Given the description of an element on the screen output the (x, y) to click on. 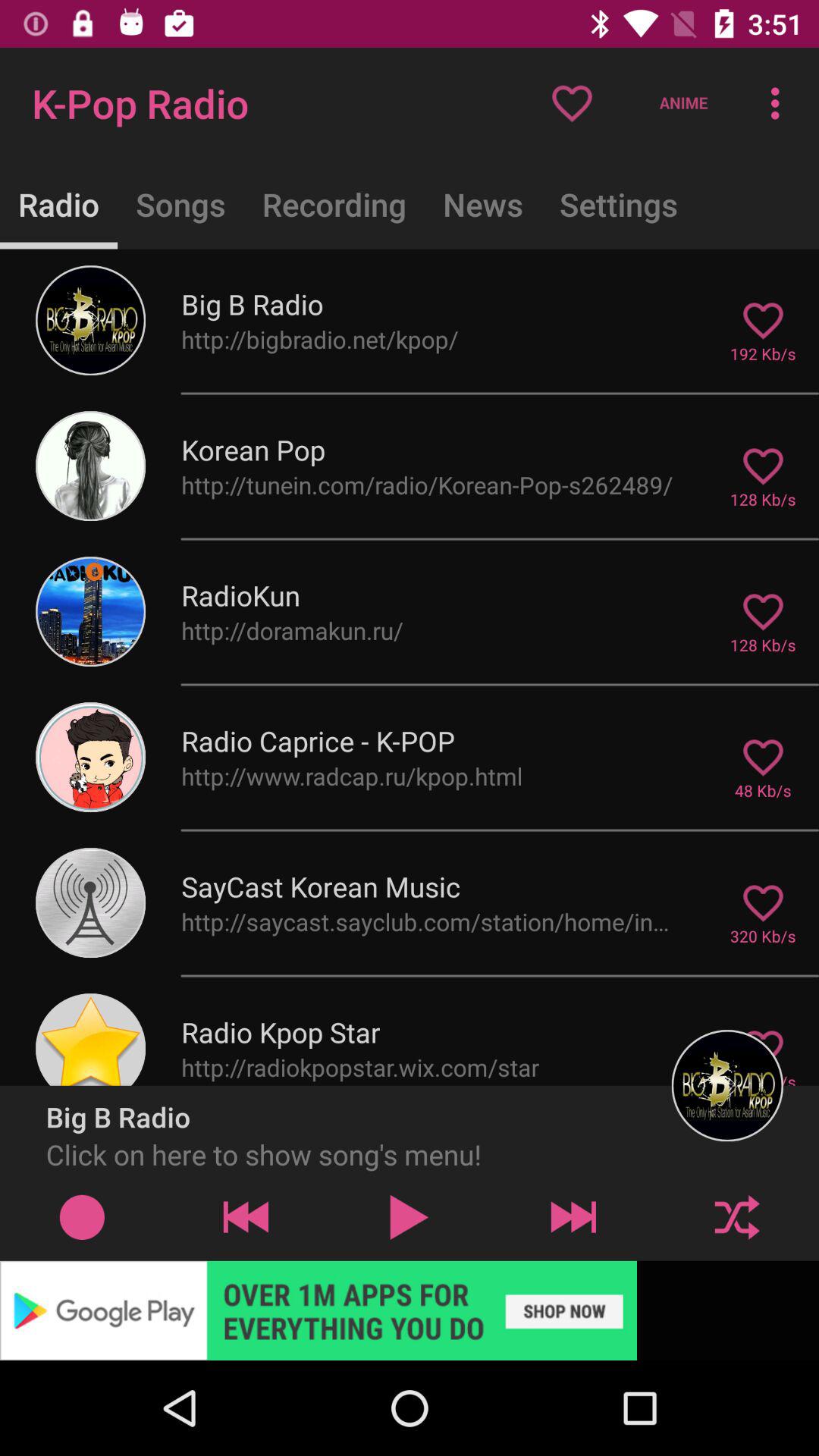
click on the like icon which is to the right of radiokun (763, 611)
click on the play button (409, 1216)
click on korean pop image (90, 465)
